Given the description of an element on the screen output the (x, y) to click on. 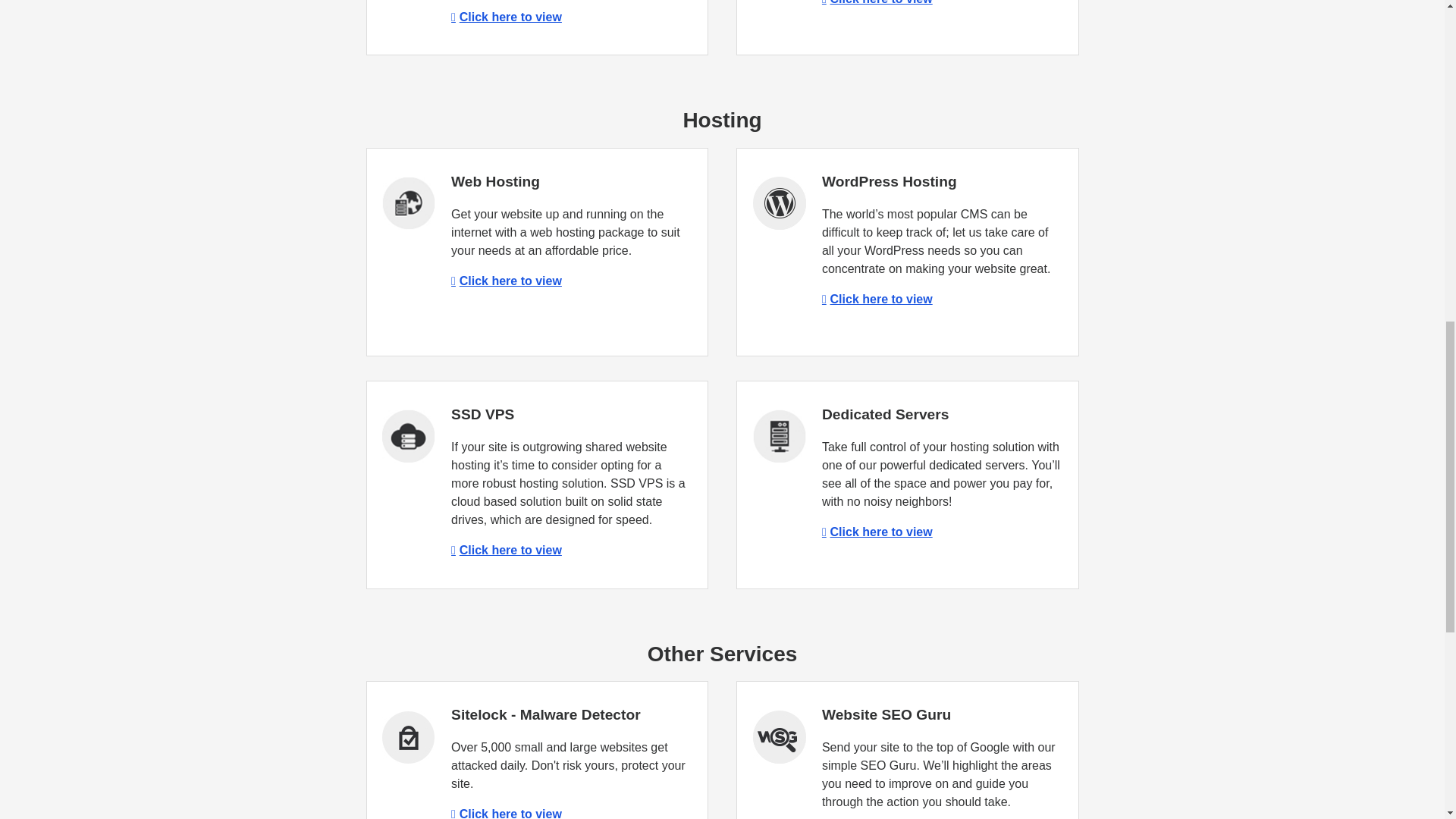
Click here to view (506, 280)
Click here to view (506, 16)
Click here to view (506, 813)
Click here to view (877, 2)
Click here to view (877, 298)
Click here to view (877, 531)
Click here to view (506, 549)
